Given the description of an element on the screen output the (x, y) to click on. 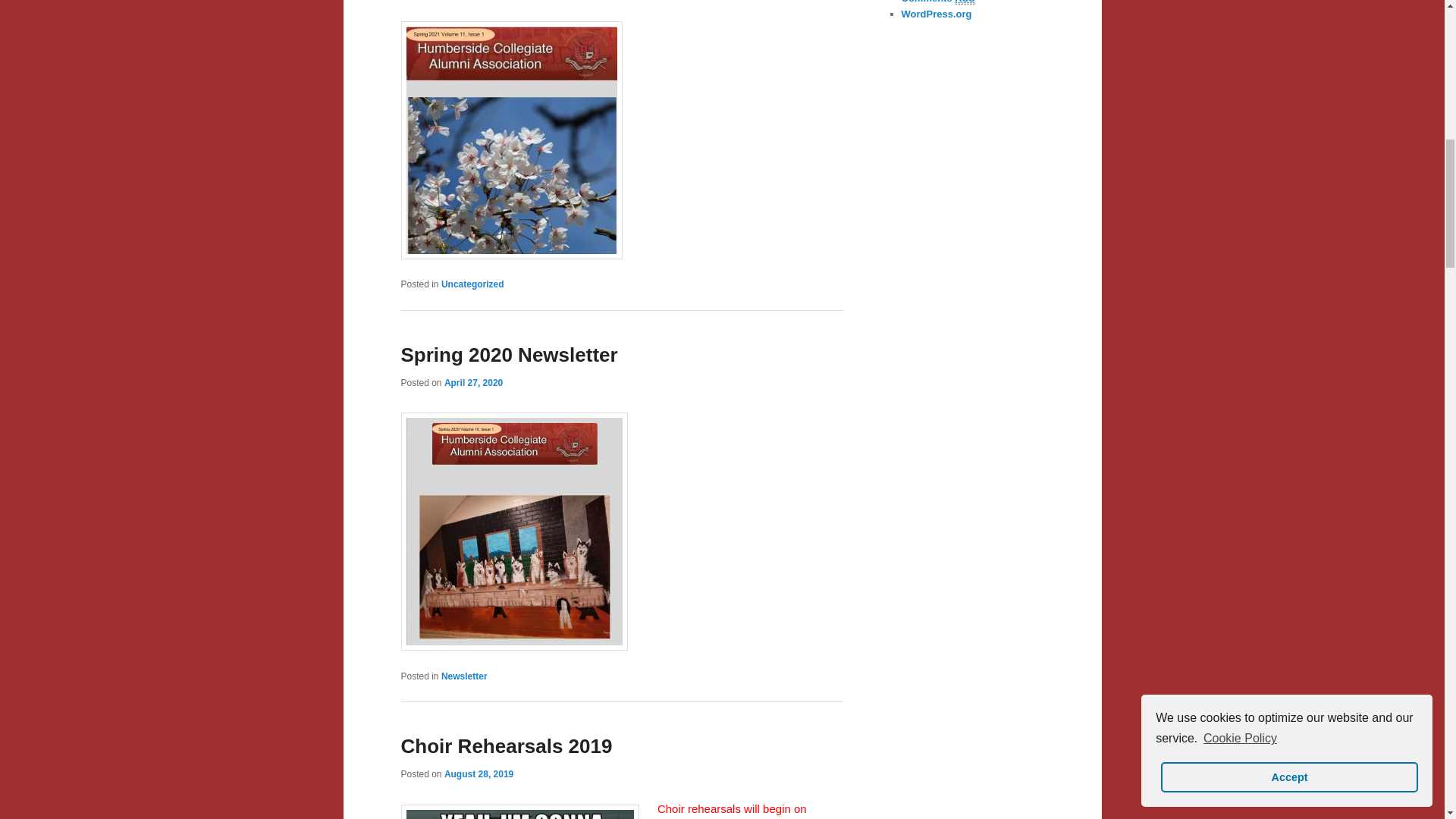
Uncategorized (472, 284)
12:02 am (478, 774)
Spring 2020 Newsletter (508, 354)
Choir Rehearsals 2019 (505, 745)
5:46 pm (473, 382)
Newsletter (464, 675)
April 27, 2020 (473, 382)
